Given the description of an element on the screen output the (x, y) to click on. 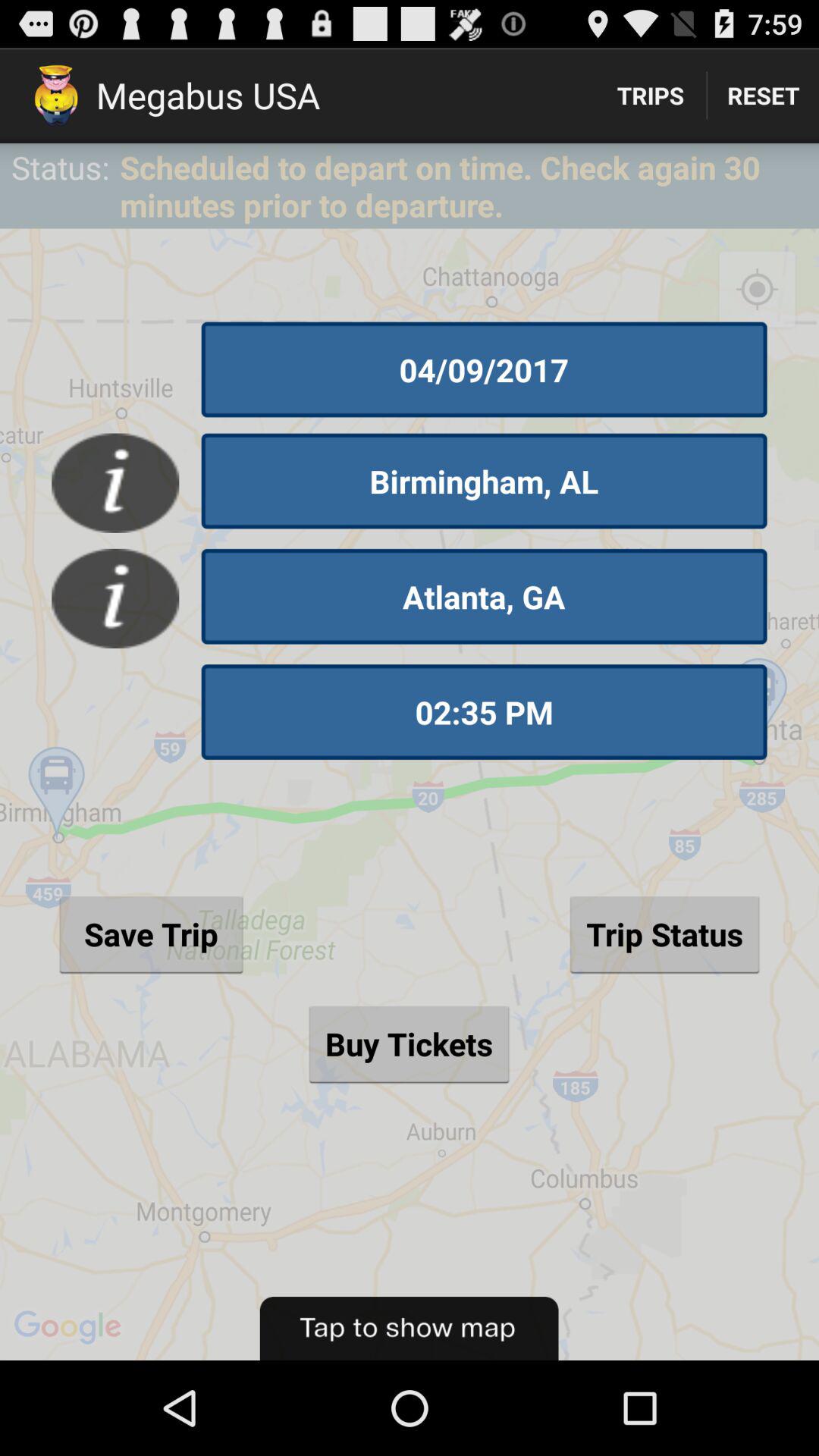
tap the item below the birmingham, al icon (484, 596)
